Given the description of an element on the screen output the (x, y) to click on. 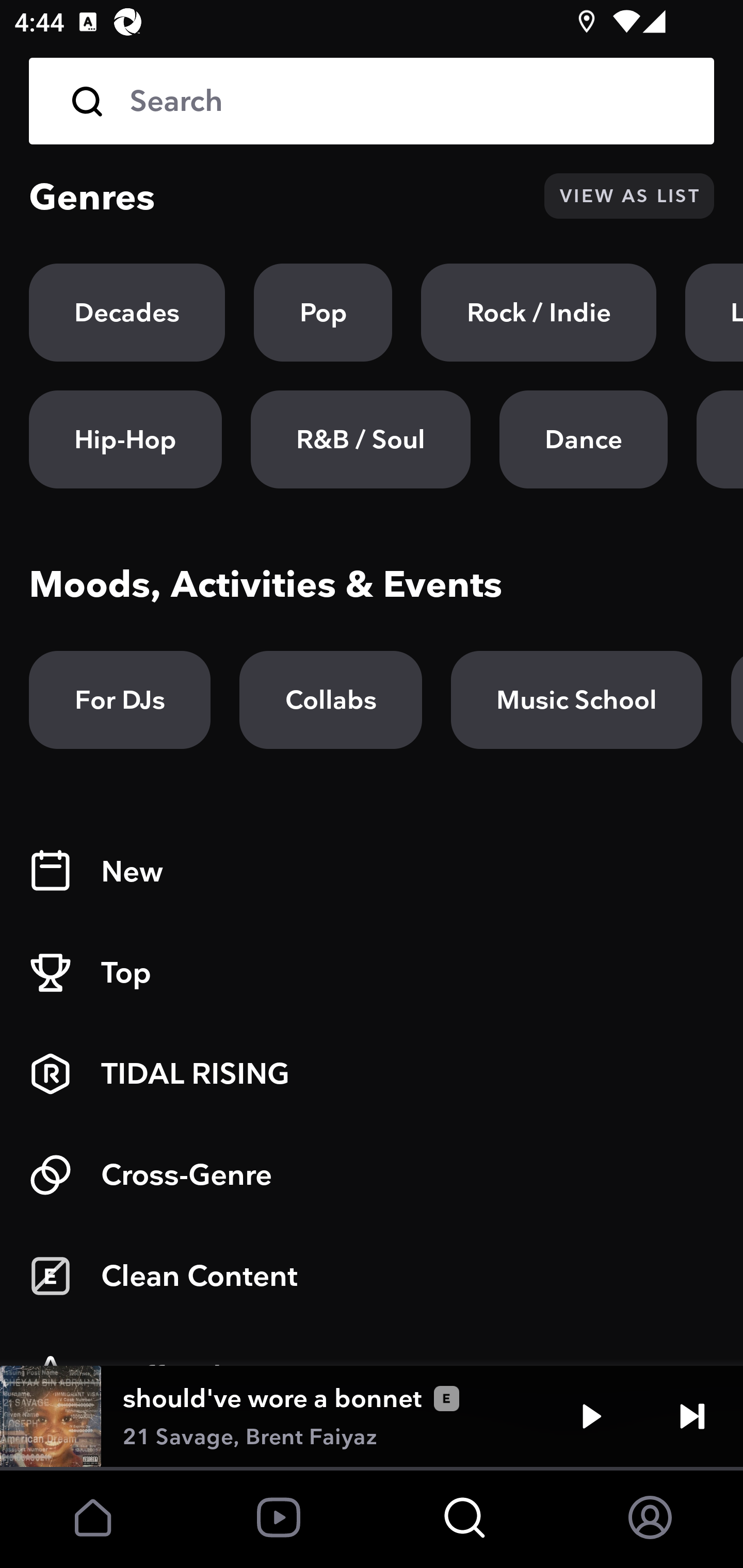
Search (371, 101)
Search (407, 100)
VIEW AS LIST (629, 195)
Decades (126, 312)
Pop (323, 312)
Rock / Indie (538, 312)
Hip-Hop (125, 439)
R&B / Soul (360, 439)
Dance (583, 439)
For DJs (119, 699)
Collabs (330, 699)
Music School (576, 699)
New (371, 871)
Top (371, 972)
TIDAL RISING (371, 1073)
Cross-Genre (371, 1175)
Clean Content (371, 1276)
Play (590, 1416)
